Given the description of an element on the screen output the (x, y) to click on. 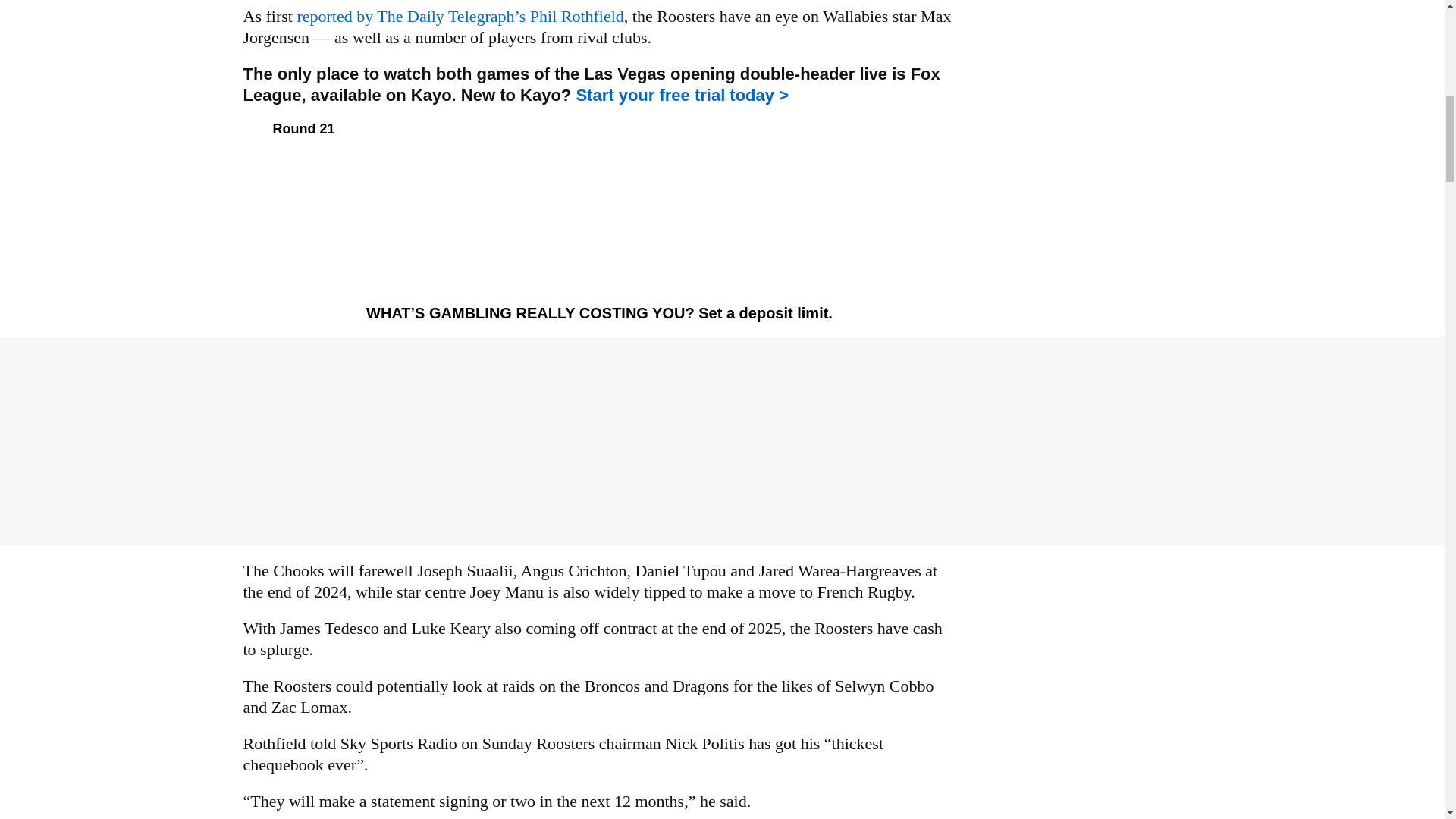
kayosports.com.au (682, 94)
www.dailytelegraph.com.au (460, 15)
